Given the description of an element on the screen output the (x, y) to click on. 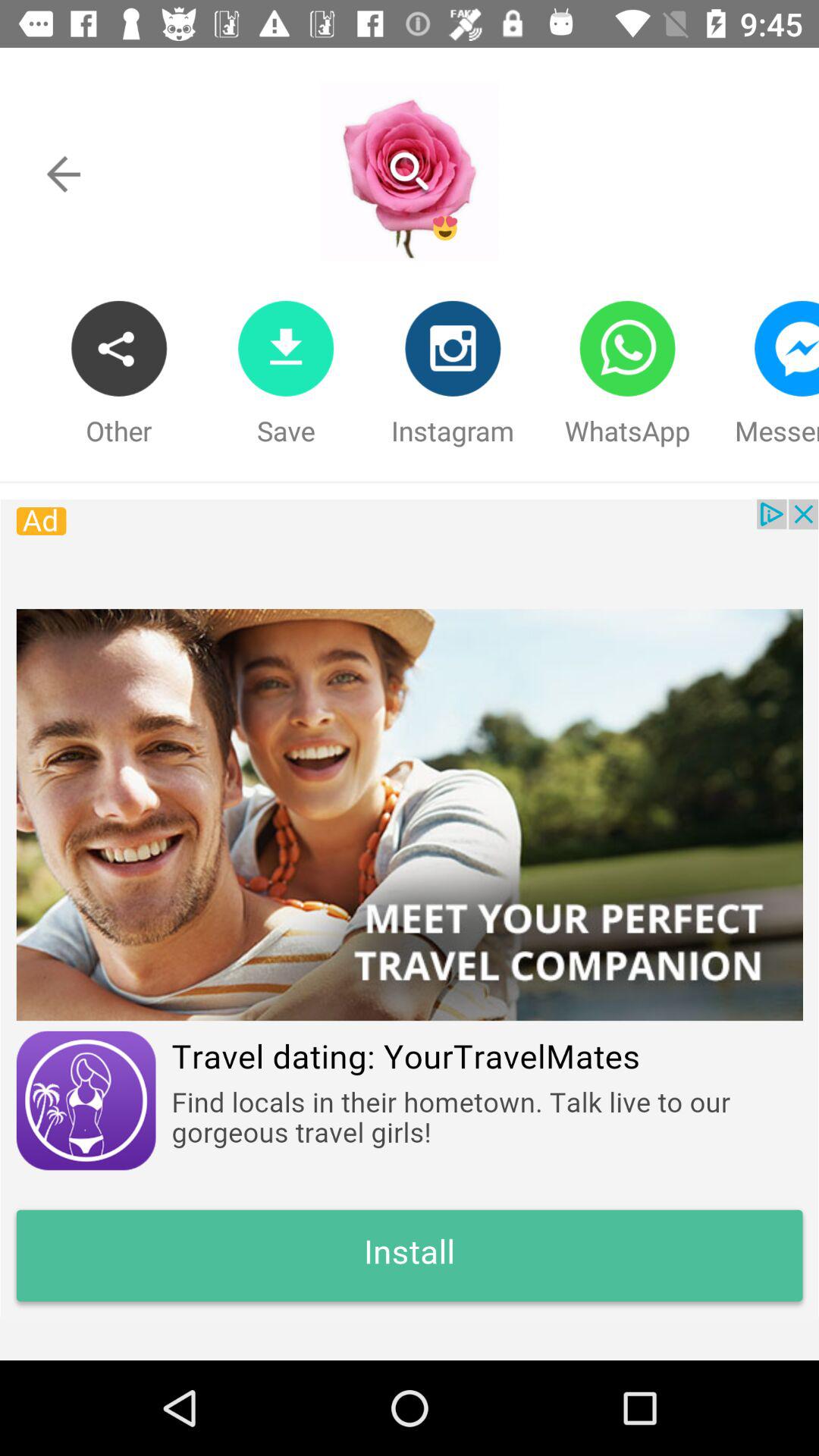
search (408, 171)
